Given the description of an element on the screen output the (x, y) to click on. 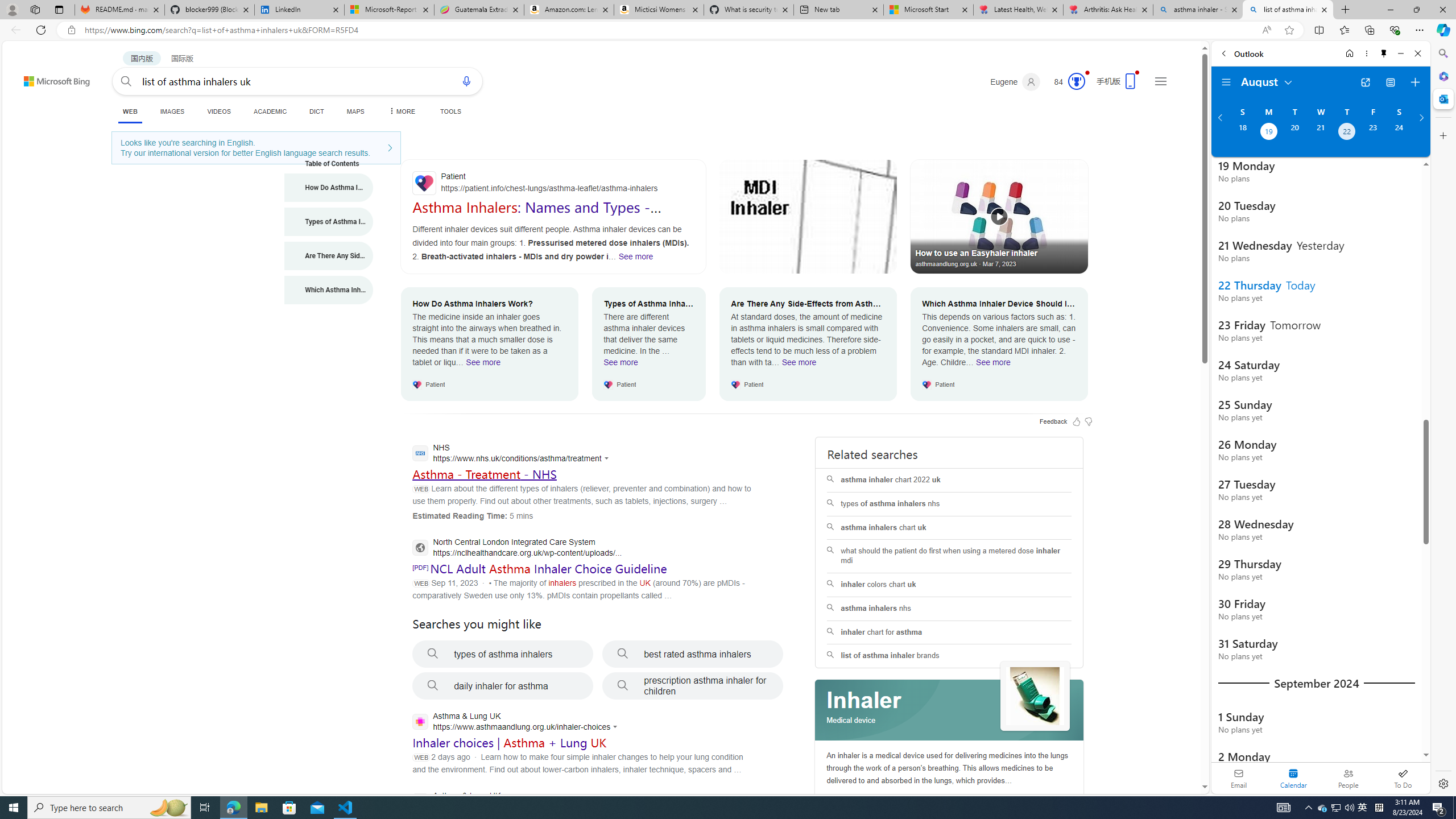
daily inhaler for asthma (503, 685)
Feedback Like (1076, 420)
Tuesday, August 20, 2024.  (1294, 132)
How to use an Easyhaler inhaler (999, 216)
Friday, August 23, 2024.  (1372, 132)
Estimated Reading Time: 5 mins (472, 515)
Patient (553, 182)
